Given the description of an element on the screen output the (x, y) to click on. 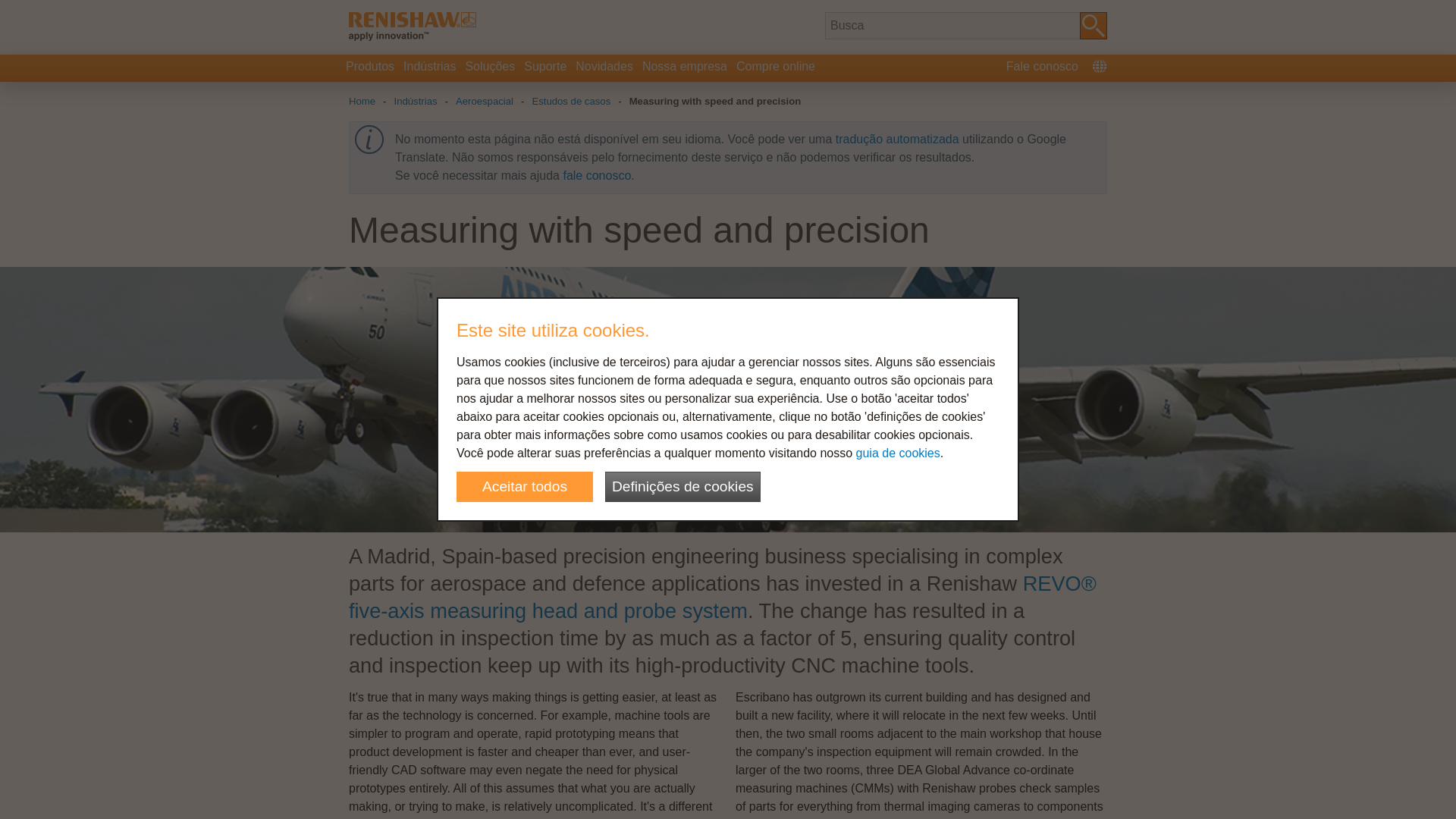
REVO five-axis measuring head and probe system (722, 596)
Produtos (369, 67)
